Given the description of an element on the screen output the (x, y) to click on. 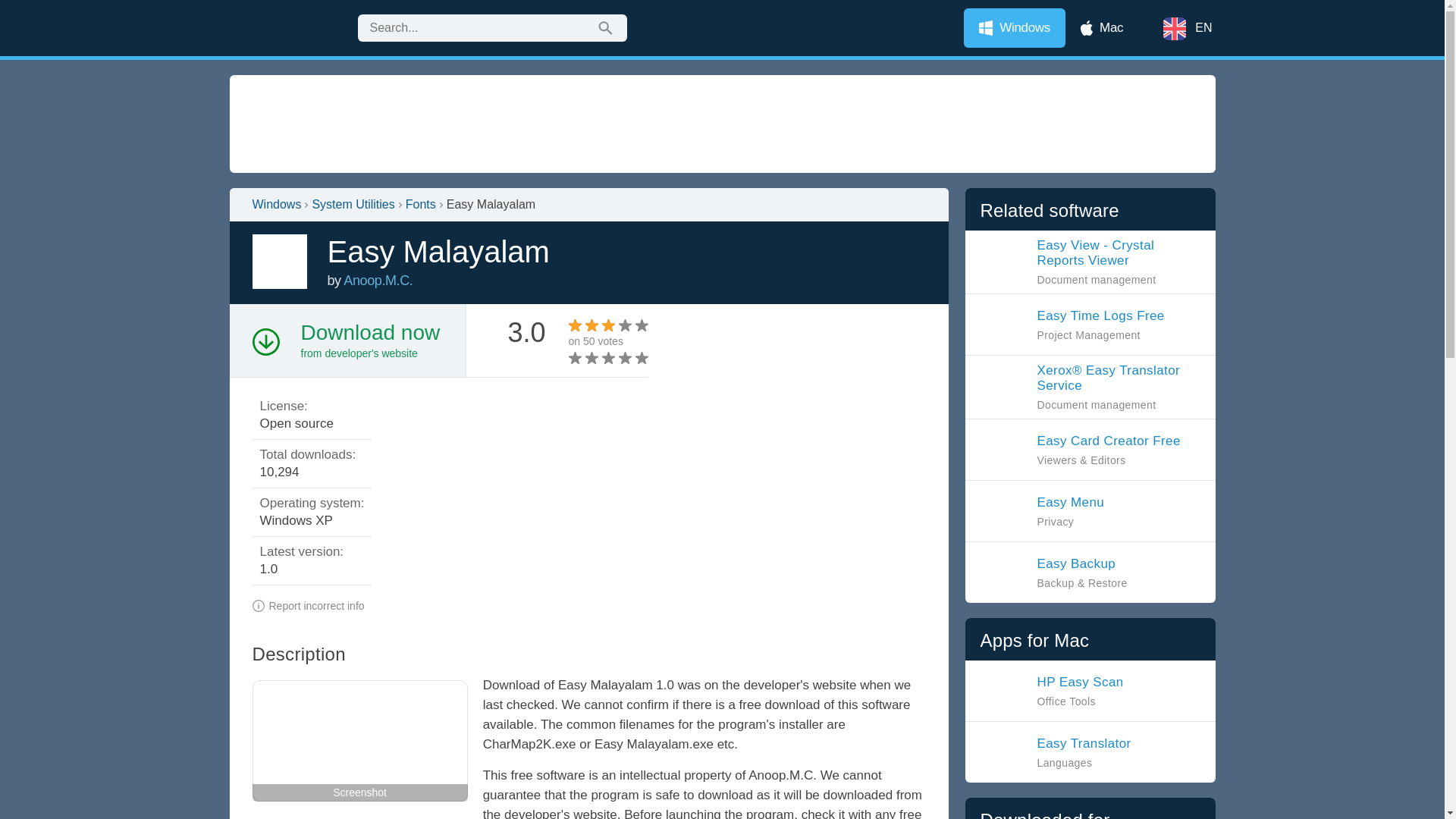
Mac (1101, 27)
5 (608, 357)
3 (1089, 261)
Anoop.M.C. (593, 357)
Easy Time Logs Free (377, 280)
Easy Menu (1071, 324)
4 (1041, 510)
Easy Card Creator Free (601, 357)
Fonts (1079, 449)
Windows (420, 204)
1 (1014, 27)
